Given the description of an element on the screen output the (x, y) to click on. 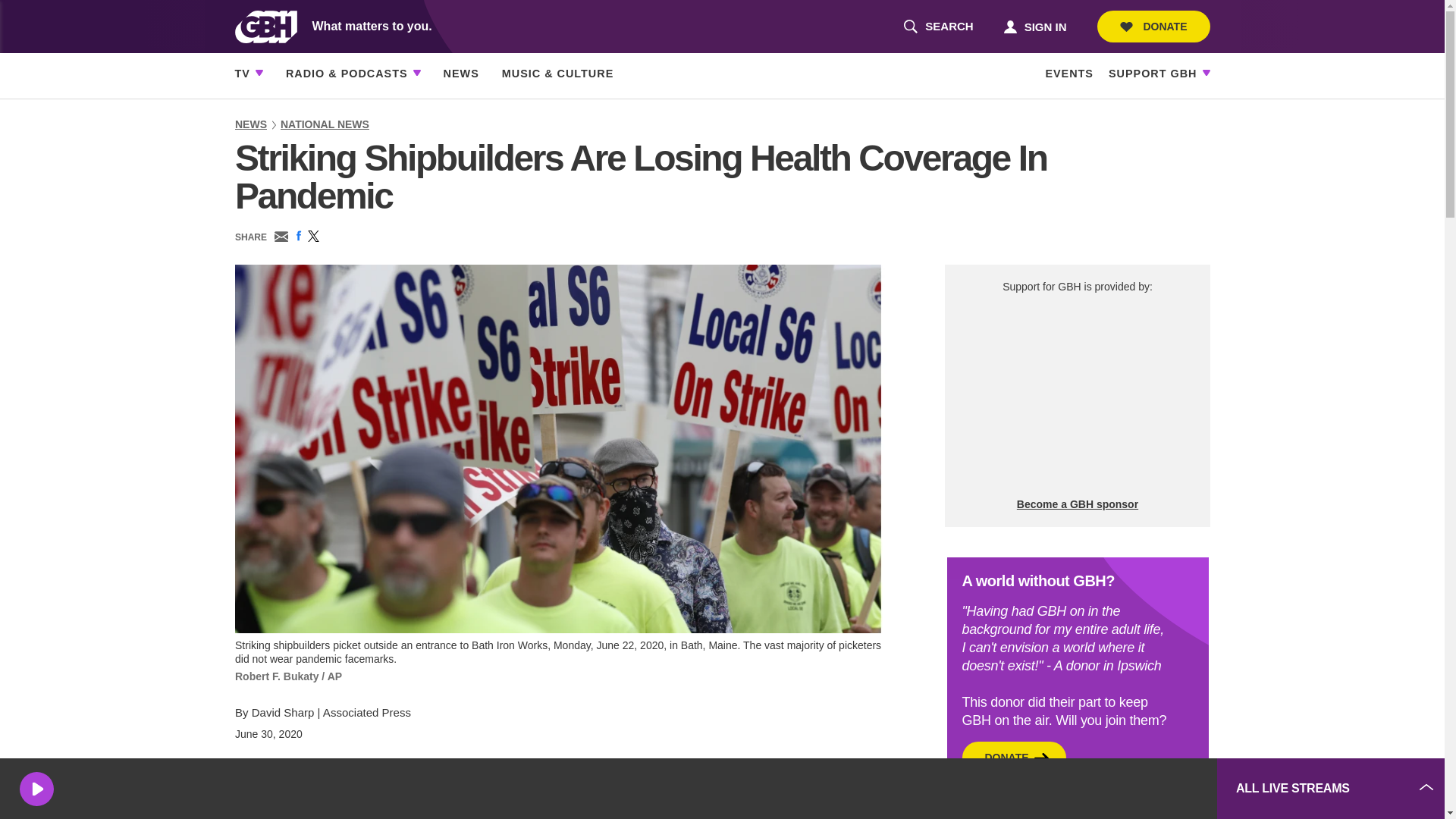
3rd party ad content (1076, 395)
DONATE (937, 26)
SIGN IN (1153, 26)
3rd party ad content (1034, 25)
